Given the description of an element on the screen output the (x, y) to click on. 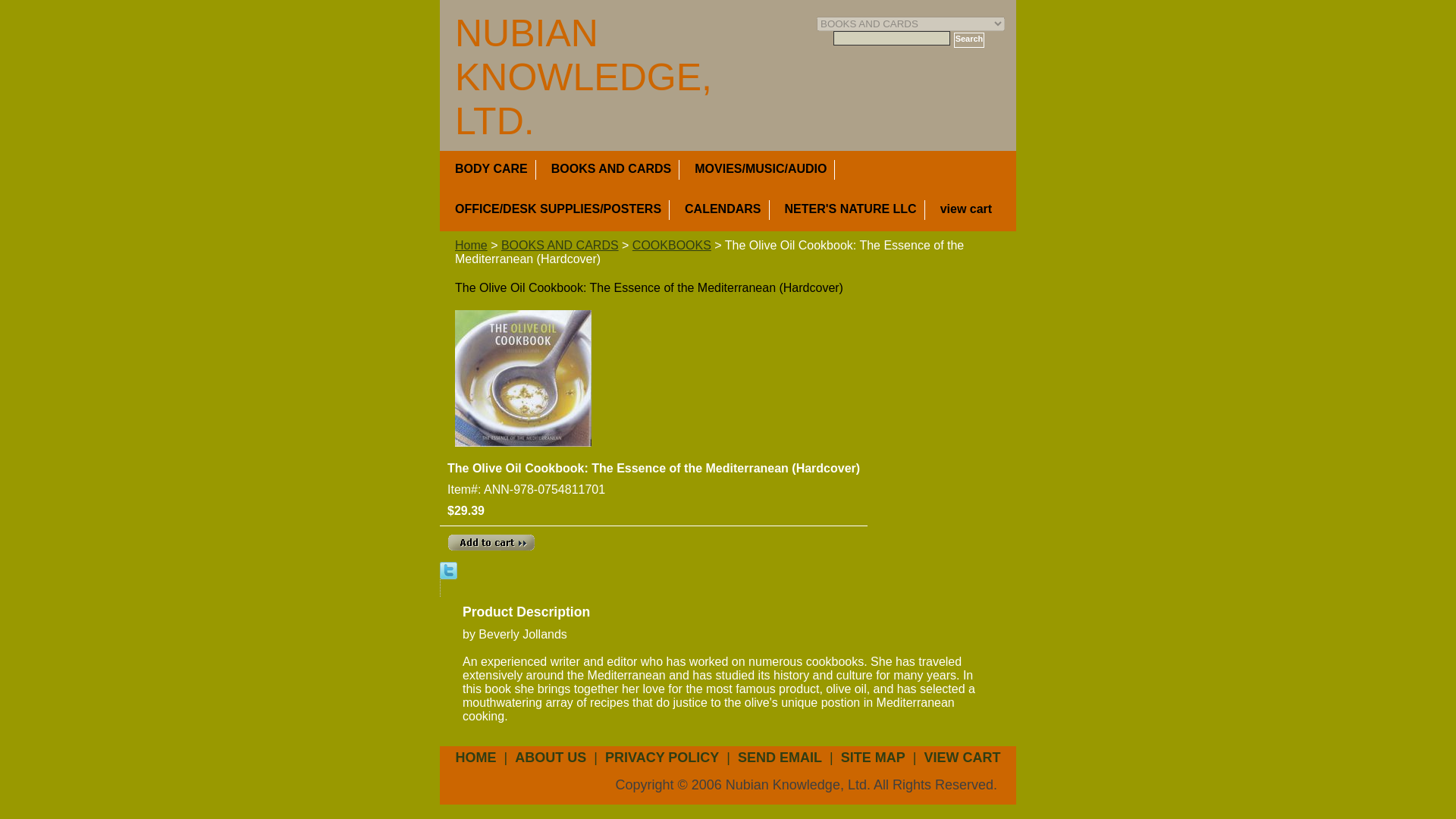
Search (969, 39)
CALENDARS (722, 209)
Search (969, 39)
SITE MAP (872, 757)
PRIVACY POLICY (661, 757)
BOOKS AND CARDS (559, 245)
Home (470, 245)
COOKBOOKS (671, 245)
Search (969, 39)
BOOKS AND CARDS (611, 169)
view cart (973, 209)
BODY CARE (490, 169)
view cart (973, 209)
NUBIAN KNOWLEDGE, LTD. (582, 77)
NUBIAN KNOWLEDGE, LTD. (582, 77)
